Given the description of an element on the screen output the (x, y) to click on. 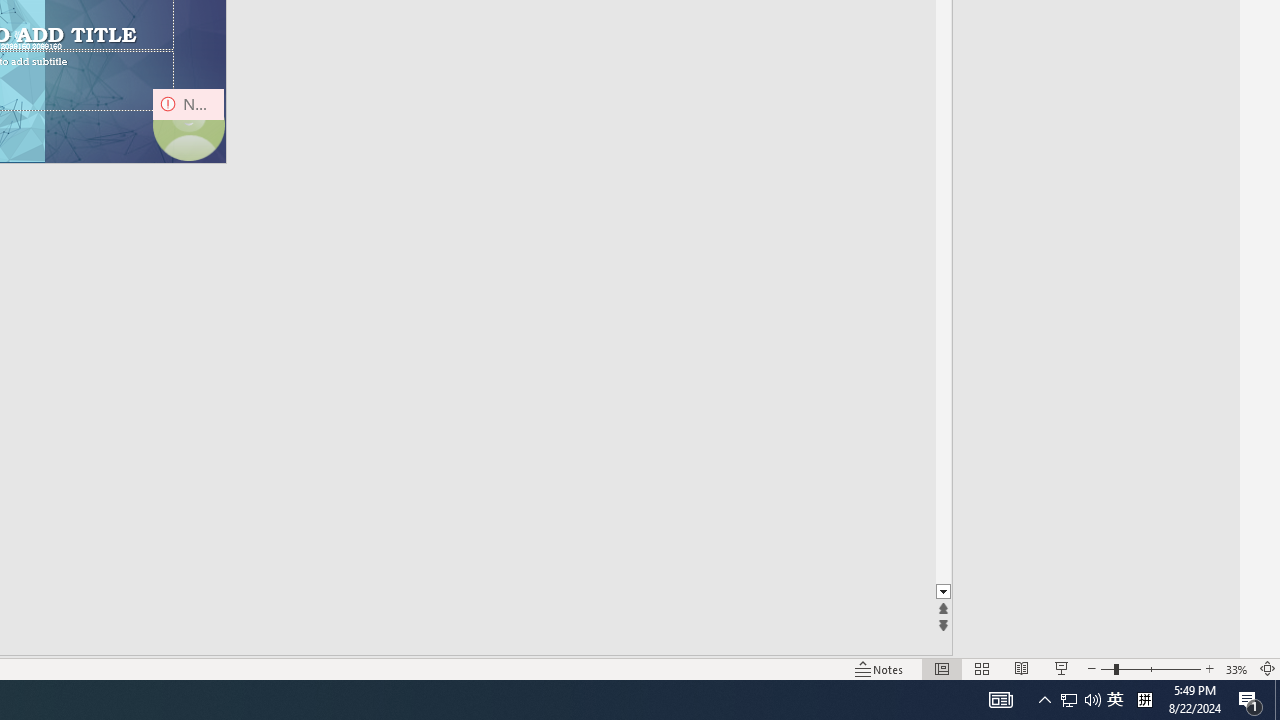
Zoom 33% (1236, 668)
TextBox 7 (15, 36)
Camera 16, No camera detected. (188, 124)
